Given the description of an element on the screen output the (x, y) to click on. 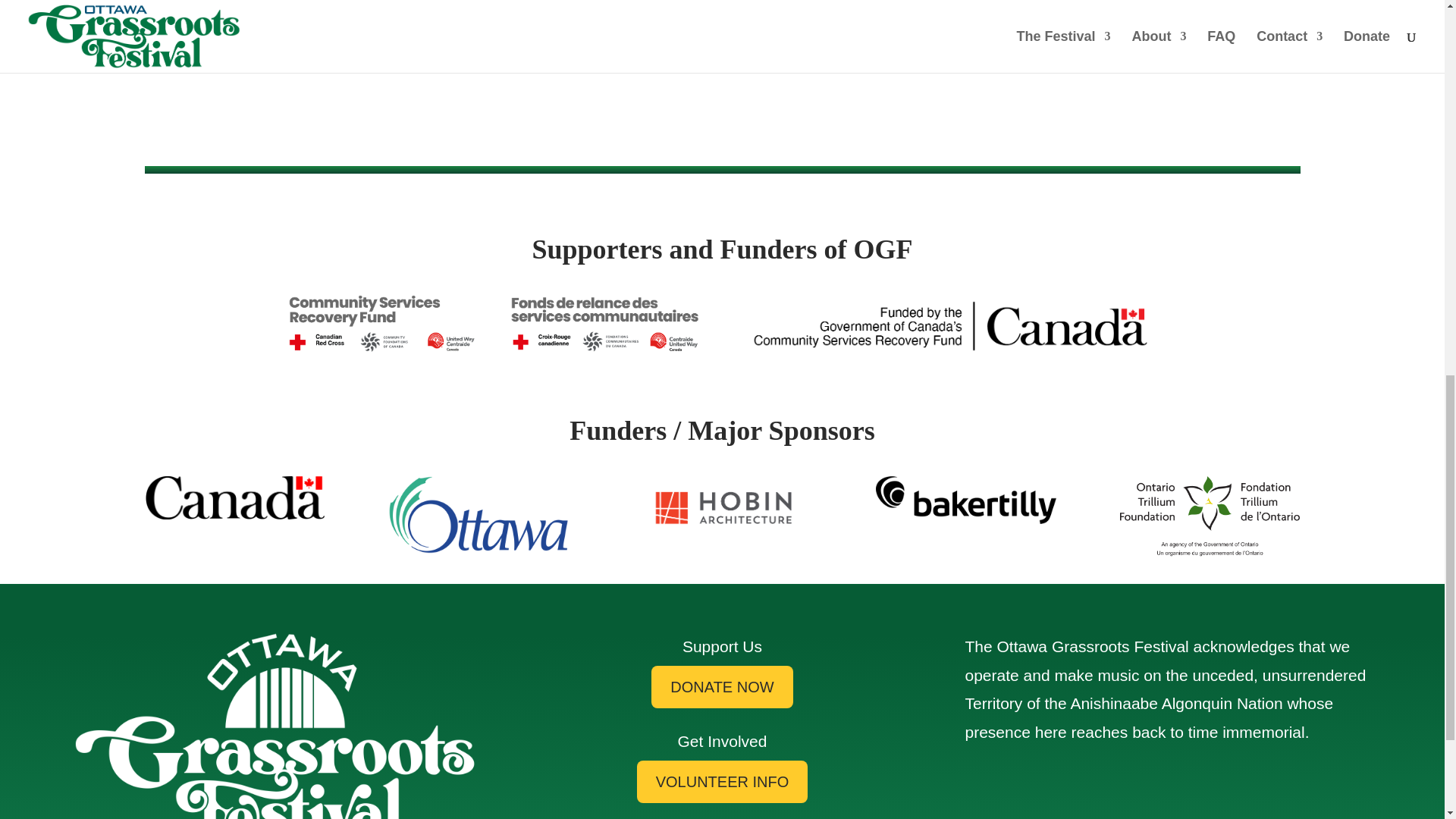
ottawa (478, 513)
Canada-CSRF (950, 325)
CSRF (493, 323)
OGF-Logo-Tall-White-2024 (275, 725)
Hobin Architecture hlogo (721, 508)
